Given the description of an element on the screen output the (x, y) to click on. 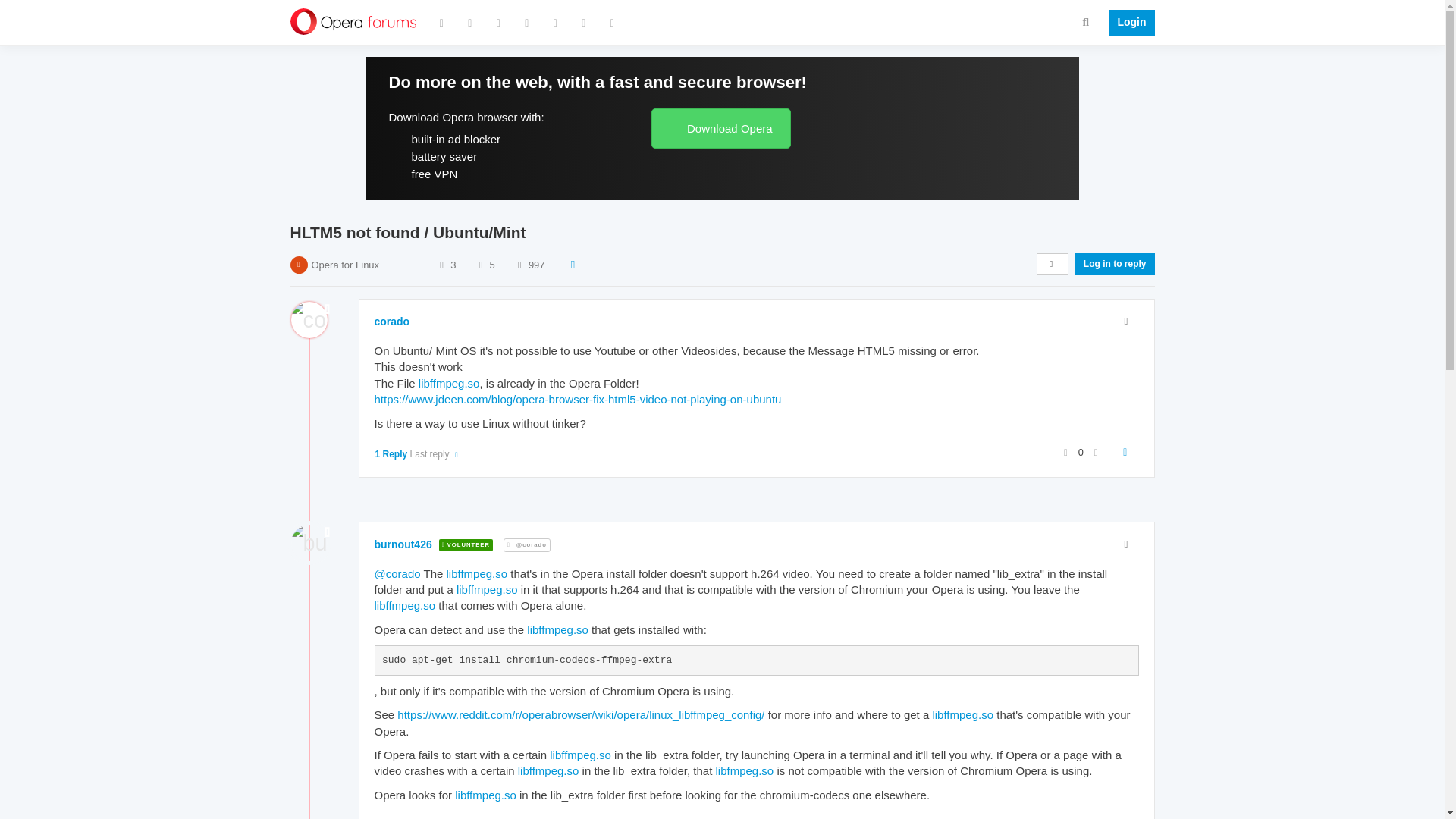
Posts (480, 265)
Download Opera (720, 128)
1 Reply Last reply (416, 453)
Log in to reply (1114, 263)
corado (392, 321)
libffmpeg.so (449, 382)
Opera for Linux (344, 265)
Login (1127, 22)
Posters (440, 265)
Views (519, 265)
Search (1085, 21)
